Given the description of an element on the screen output the (x, y) to click on. 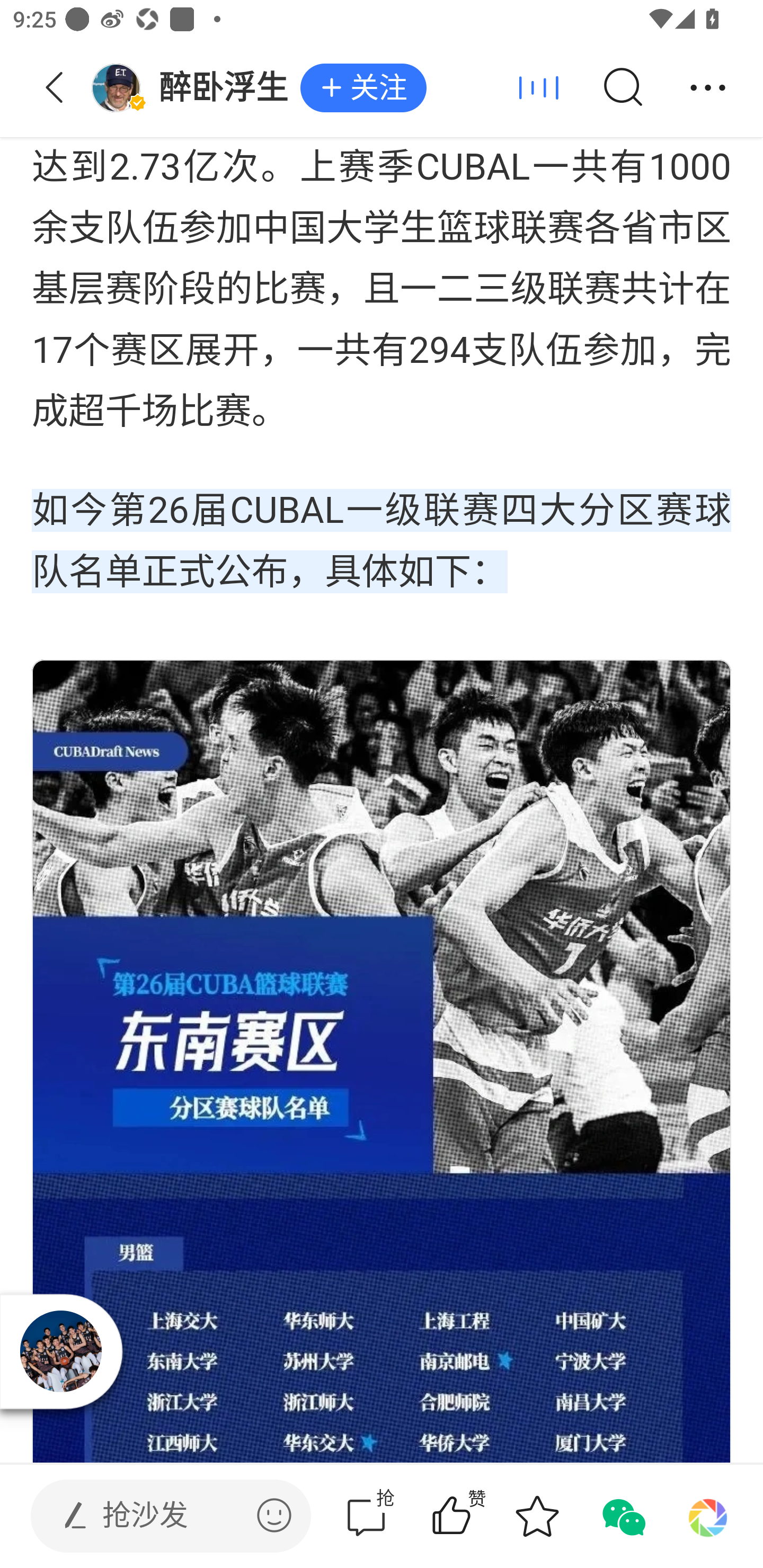
醉卧浮生 (195, 87)
搜索  (622, 87)
分享  (707, 87)
 返回 (54, 87)
 关注 (363, 88)
新闻图片 (381, 1061)
播放器 (60, 1351)
发表评论  抢沙发 发表评论  (155, 1516)
抢评论  抢 评论 (365, 1516)
赞赞 (476, 1516)
收藏  (536, 1516)
分享到微信  (622, 1516)
分享到朋友圈 (707, 1516)
 (274, 1515)
